Given the description of an element on the screen output the (x, y) to click on. 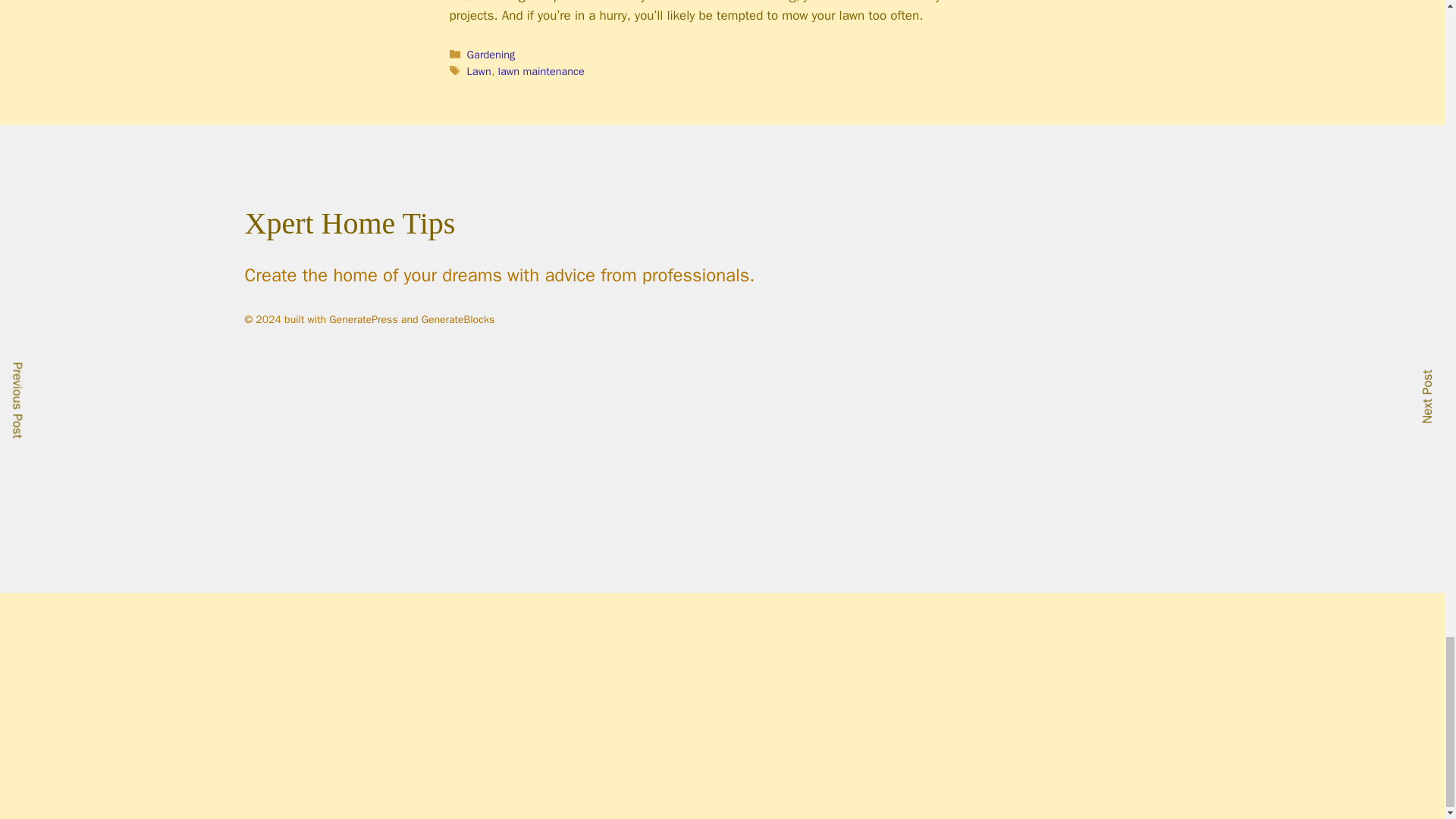
lawn maintenance (541, 70)
Xpert Home Tips (349, 223)
Lawn (479, 70)
Gardening (491, 54)
